Given the description of an element on the screen output the (x, y) to click on. 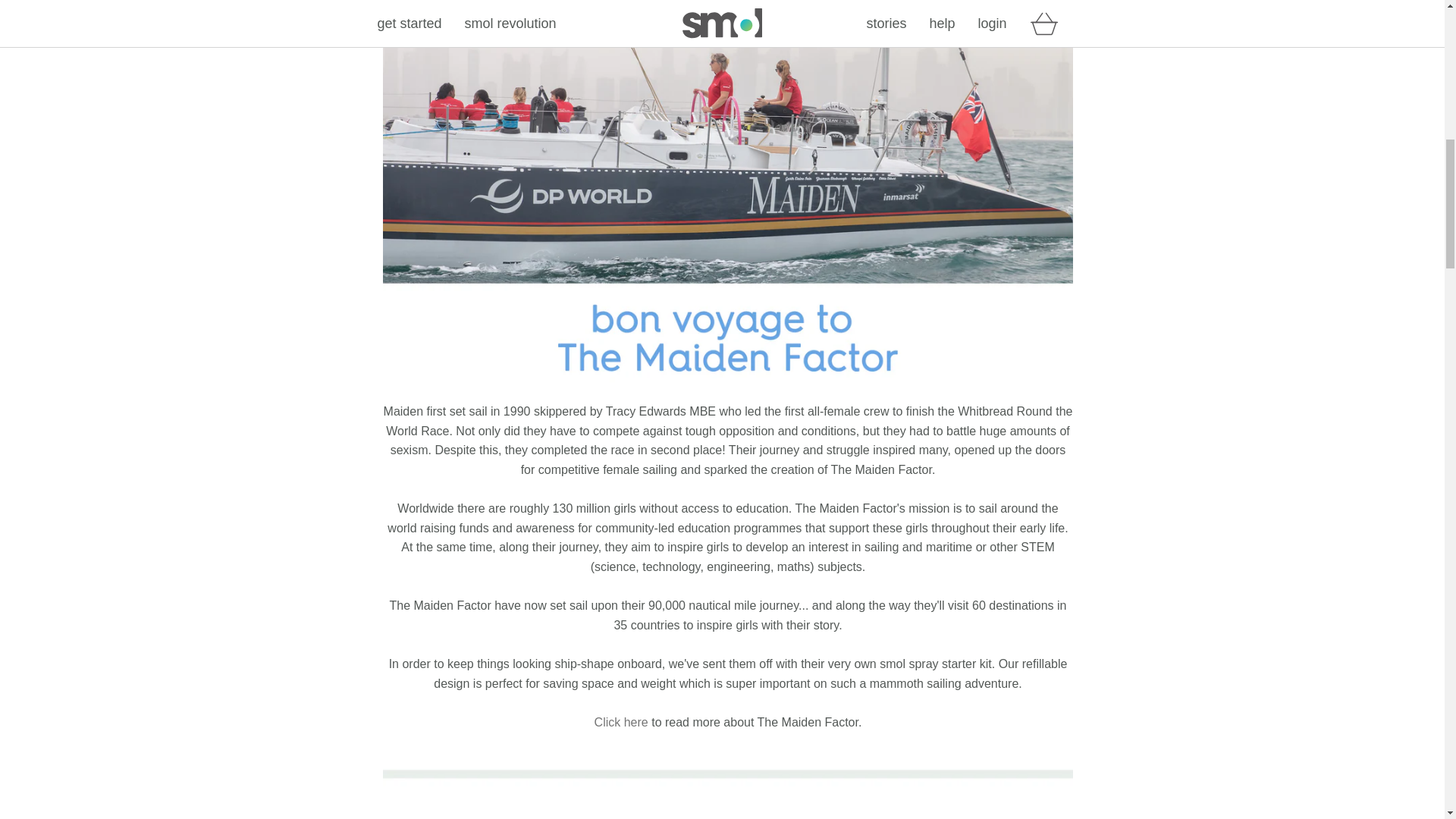
The Maiden Factor (620, 721)
